Given the description of an element on the screen output the (x, y) to click on. 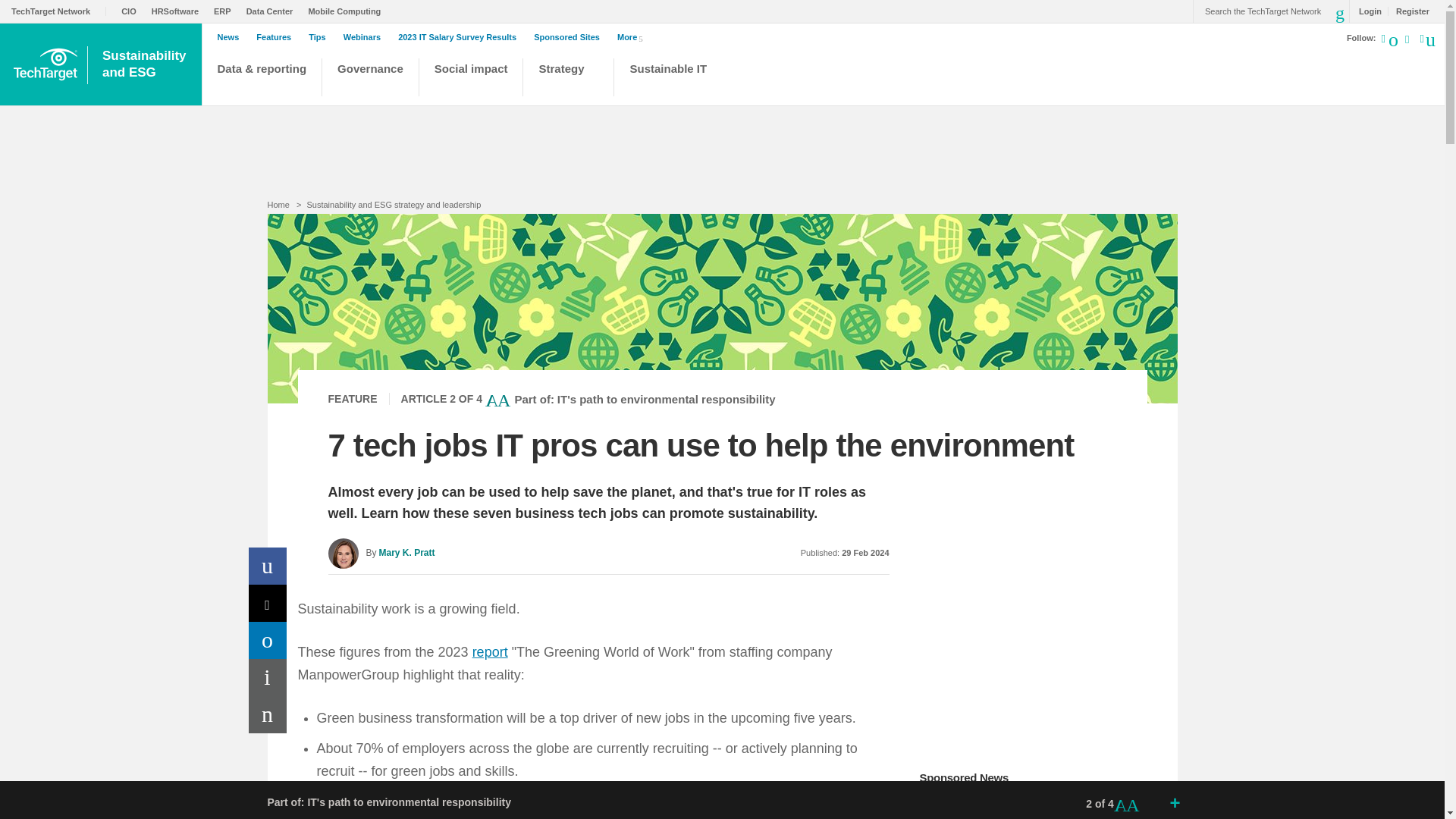
ERP (226, 10)
Features (277, 36)
Webinars (365, 36)
News (231, 36)
Strategy (568, 79)
Share on LinkedIn (267, 640)
Print This Page (267, 677)
2023 IT Salary Survey Results (460, 36)
Tips (320, 36)
Mobile Computing (347, 10)
Share on Facebook (267, 565)
Email a Friend (267, 714)
Data Center (273, 10)
Share on X (267, 602)
Sustainable IT (669, 79)
